Given the description of an element on the screen output the (x, y) to click on. 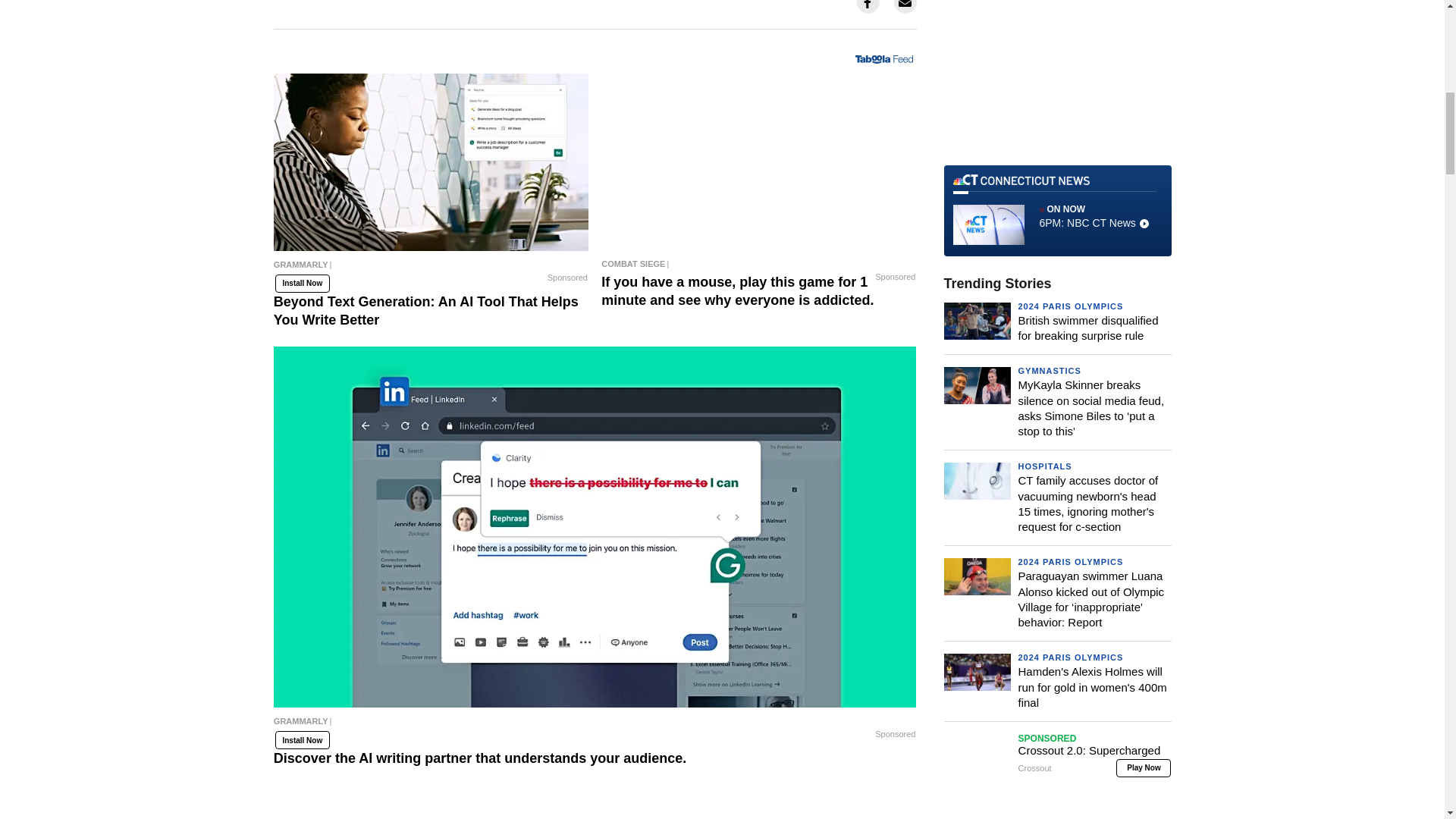
Sponsored (895, 276)
Install Now (302, 283)
Sponsored (567, 277)
